Given the description of an element on the screen output the (x, y) to click on. 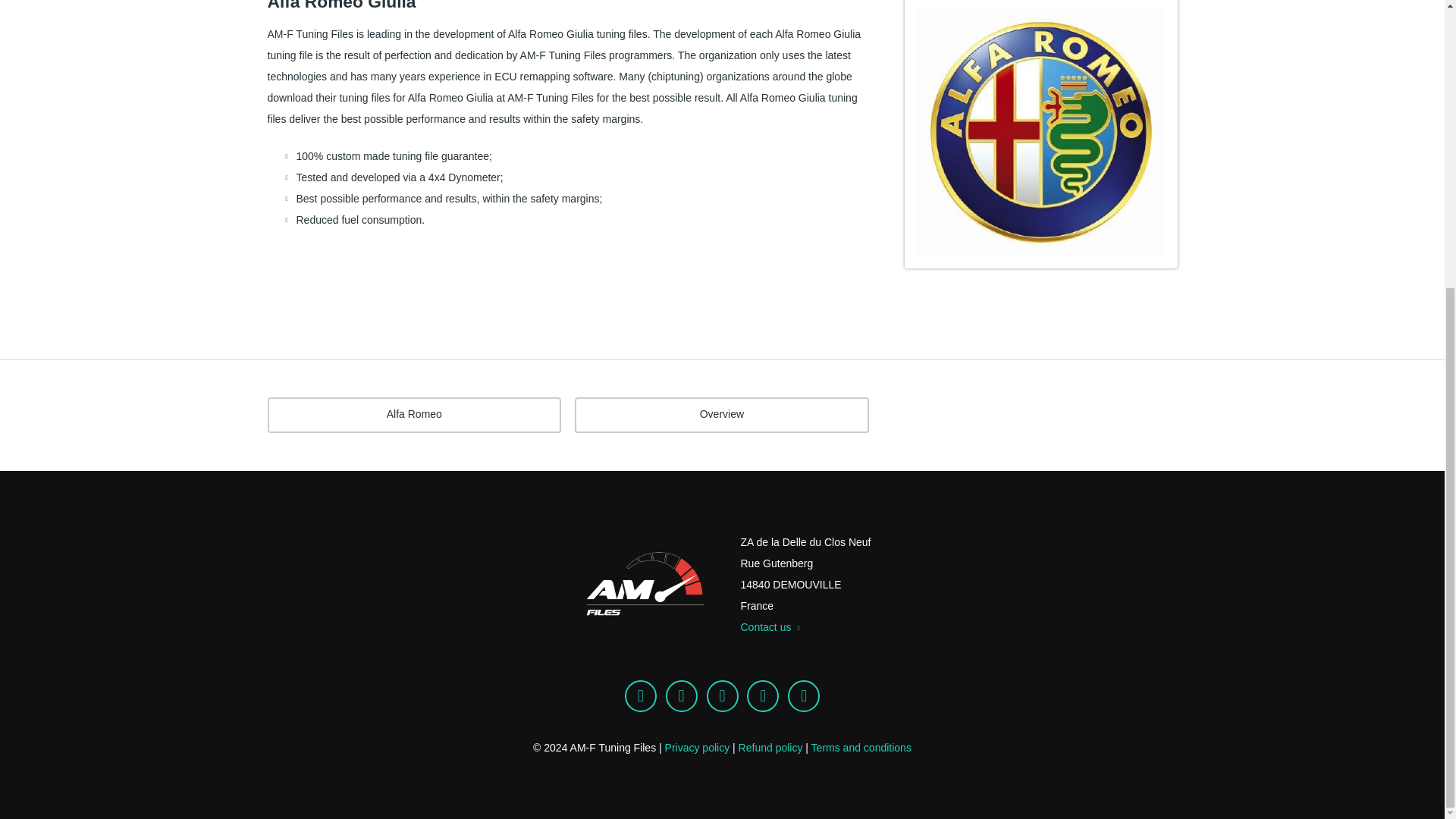
Alfa Romeo (413, 415)
Refund policy (770, 747)
Contact us (769, 626)
Terms and conditions (860, 747)
Alfa Romeo (413, 415)
Website (803, 695)
Facebook (681, 695)
Contact us (769, 626)
Overview (722, 415)
YouTube (762, 695)
Skype (640, 695)
AM-F Tuning Files (641, 584)
Overview (722, 415)
Privacy policy (697, 747)
